Given the description of an element on the screen output the (x, y) to click on. 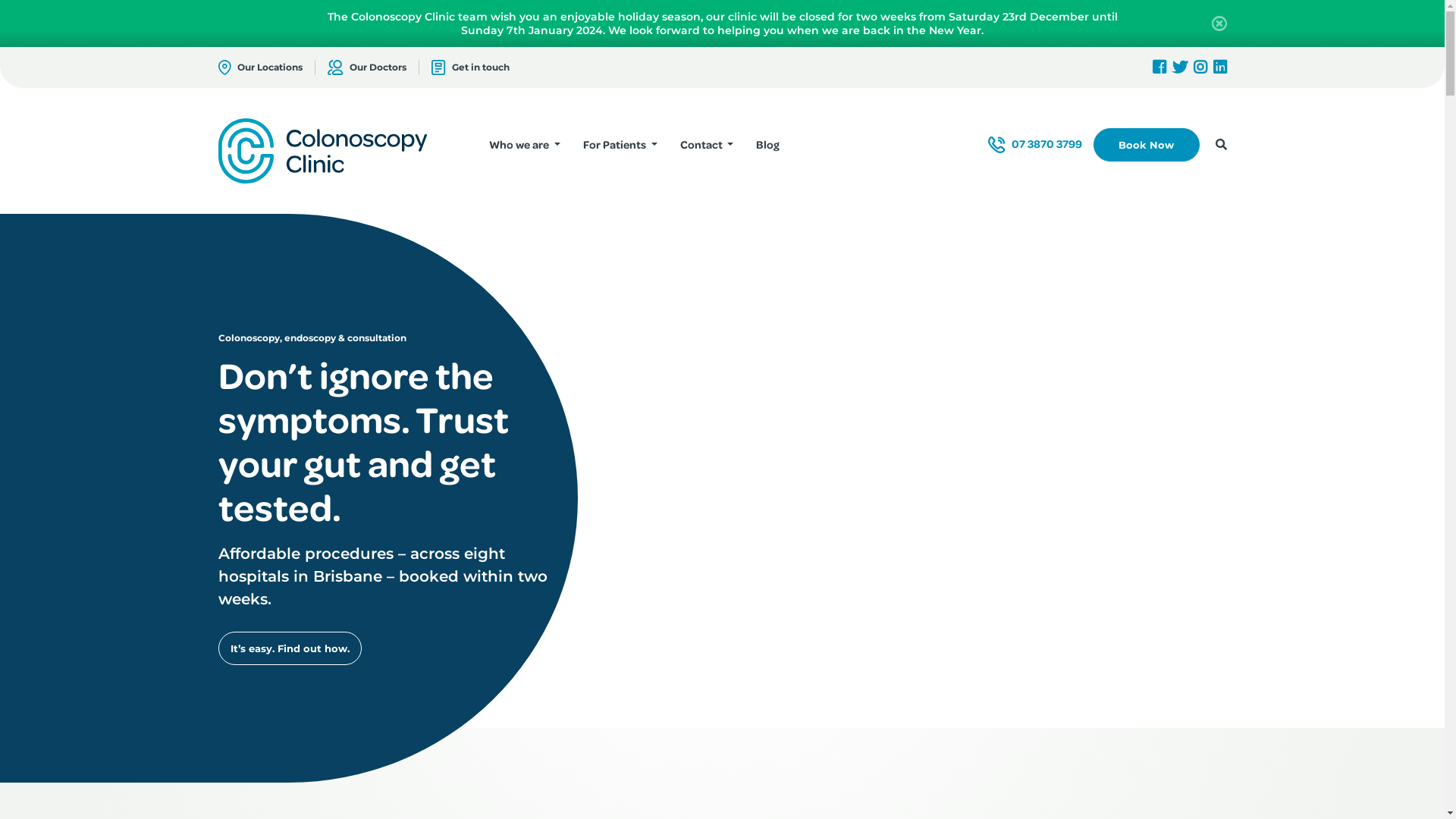
For Patients Element type: text (619, 144)
Contact Element type: text (706, 144)
Instagram Element type: hover (1200, 67)
07 3870 3799 Element type: text (1034, 144)
Our Locations Element type: text (260, 67)
Blog Element type: text (767, 144)
Logo Element type: text (322, 150)
Book Now Element type: text (1146, 144)
Who we are Element type: text (524, 144)
Facebook Element type: hover (1159, 67)
LinkedIn Element type: hover (1219, 67)
Get in touch Element type: text (463, 67)
Our Doctors Element type: text (359, 67)
Twitter Element type: hover (1179, 67)
